Given the description of an element on the screen output the (x, y) to click on. 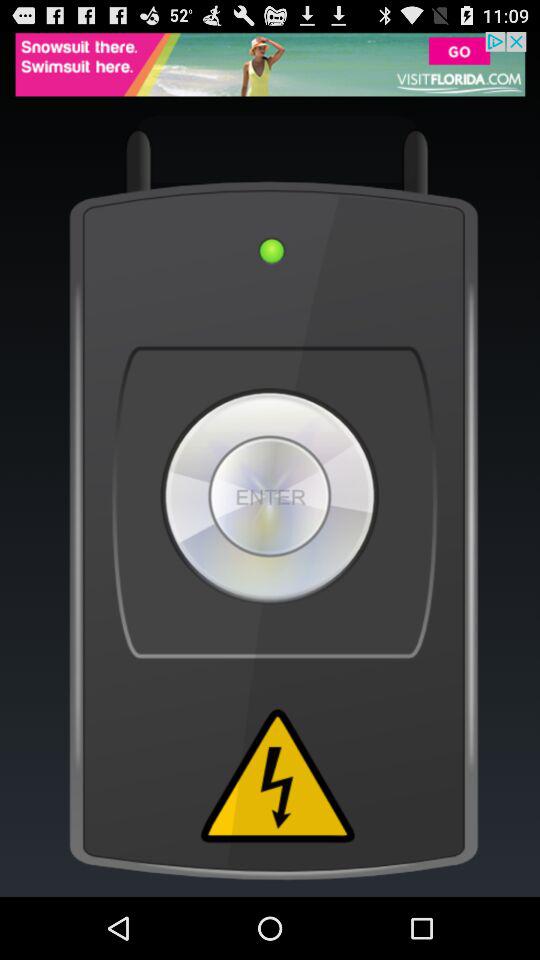
switch to enter (269, 496)
